Given the description of an element on the screen output the (x, y) to click on. 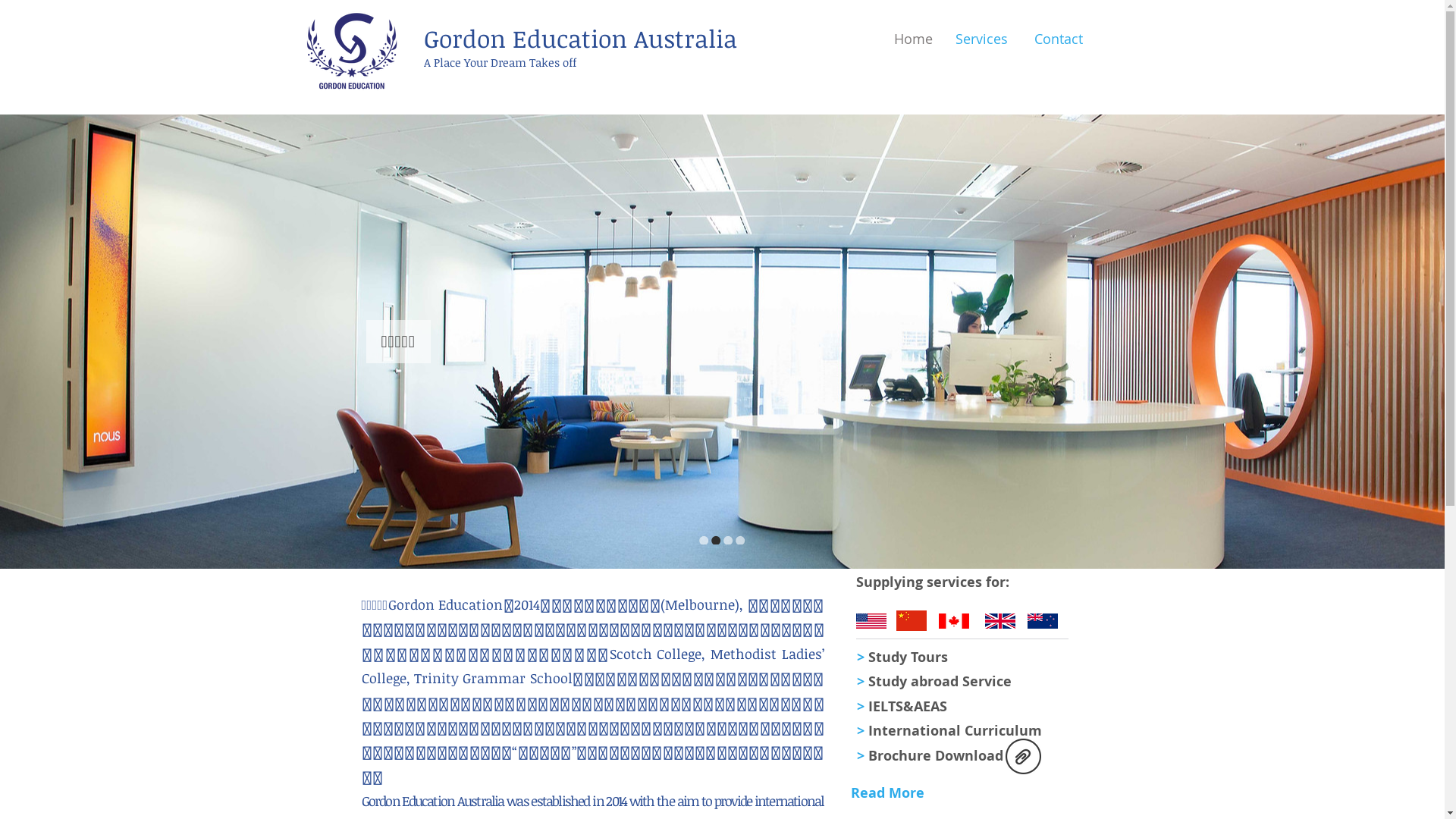
logo.png Element type: hover (350, 51)
Home Element type: text (906, 38)
Contact Element type: text (1056, 38)
Services Element type: text (980, 38)
Flag_of_the_People's_Republic_of_China.svg.png Element type: hover (911, 620)
Read More Element type: text (887, 792)
